Given the description of an element on the screen output the (x, y) to click on. 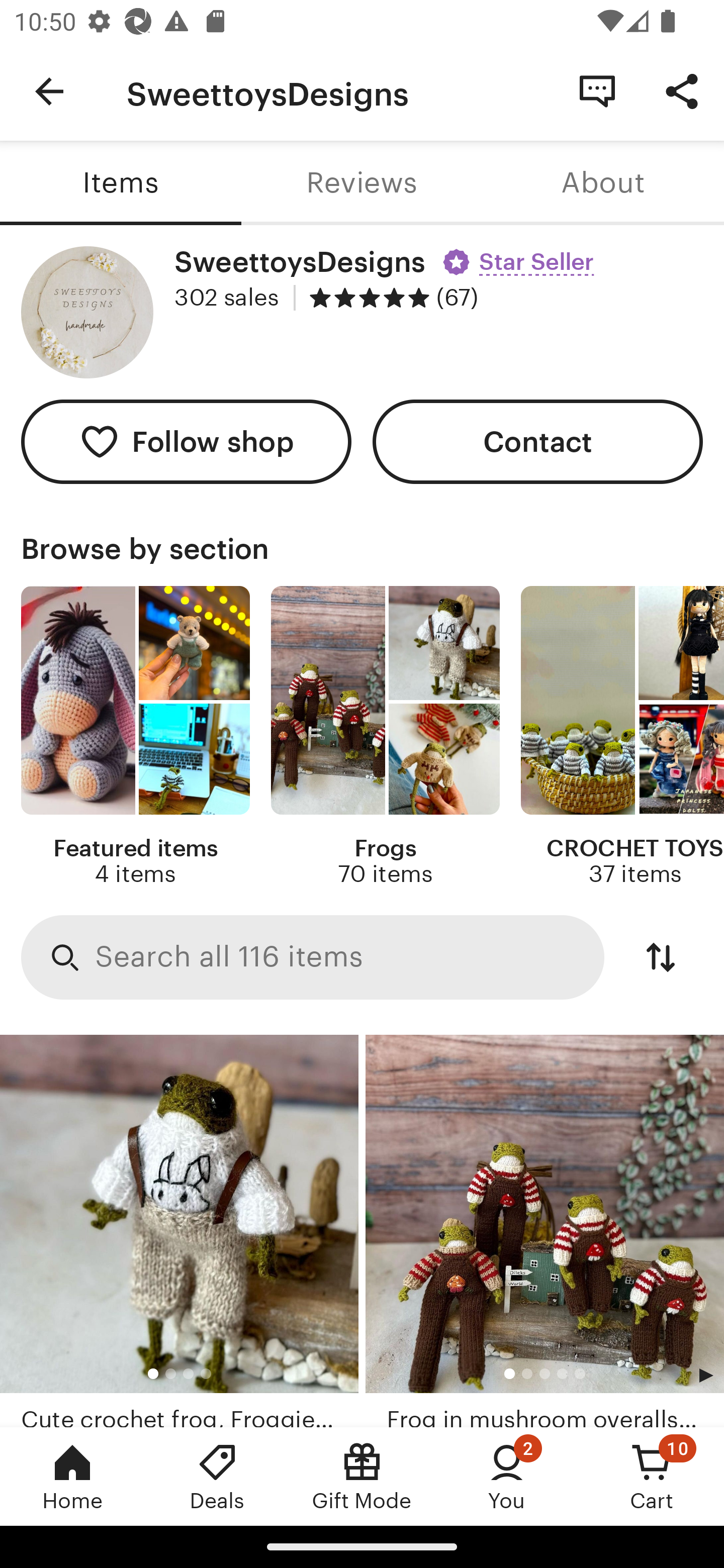
Navigate up (49, 91)
Contact Shop (597, 90)
Share (681, 90)
Reviews (361, 183)
About (603, 183)
Star Seller (520, 255)
Follow shop (185, 441)
Contact (537, 441)
Featured items 4 items (134, 736)
Frogs 70 items (384, 736)
CROCHET TOYS 37 items (622, 736)
Search Search all 116 items (312, 957)
Deals (216, 1475)
Gift Mode (361, 1475)
You, 2 new notifications You (506, 1475)
Cart, 10 new notifications Cart (651, 1475)
